Given the description of an element on the screen output the (x, y) to click on. 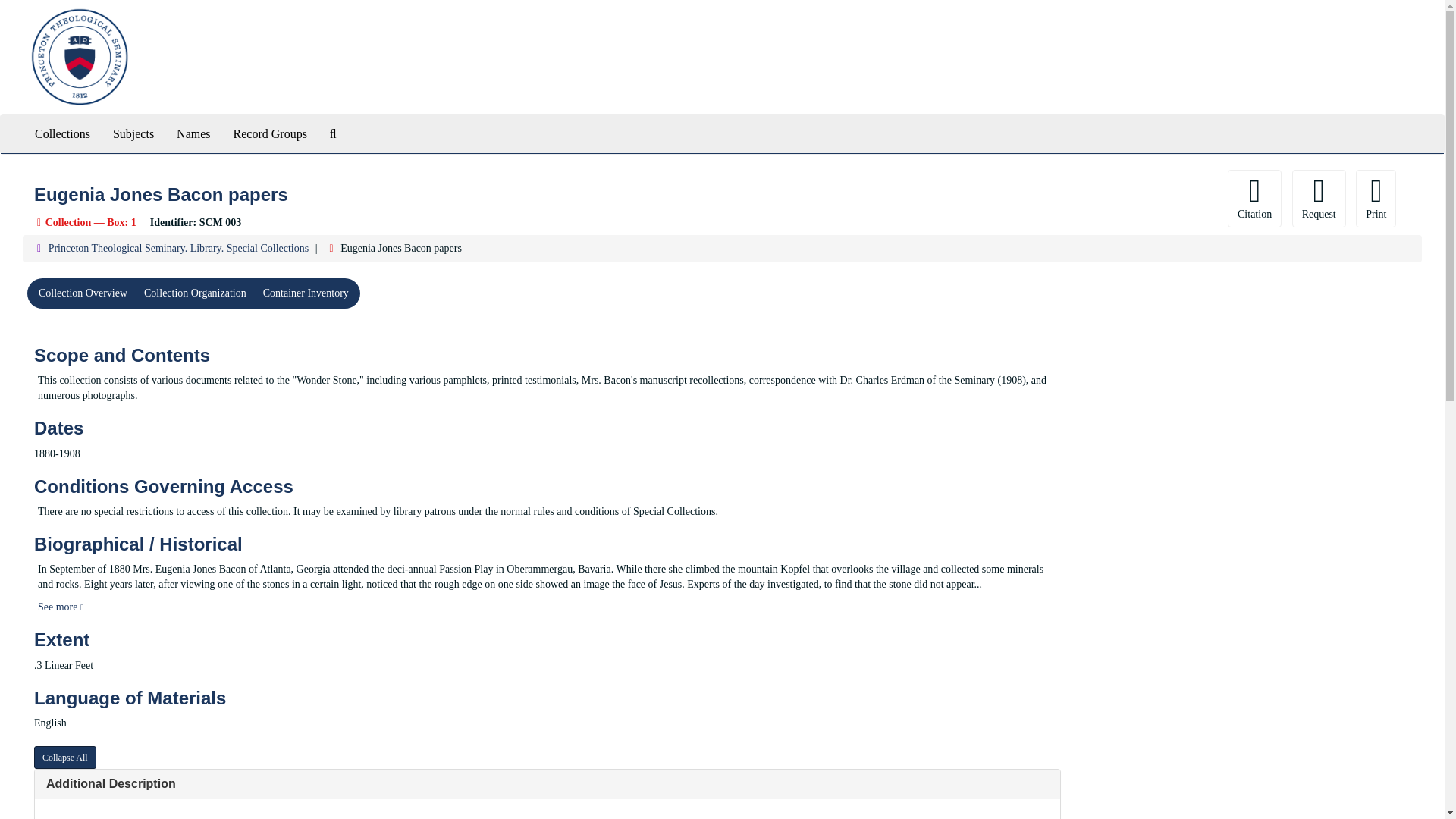
Container Inventory (305, 293)
Collections (62, 134)
Names (193, 134)
Citation (1254, 198)
Collection Overview (82, 293)
Request (1318, 198)
Additional Description (111, 783)
Collection Organization (194, 293)
Princeton Theological Seminary. Library. Special Collections (178, 247)
Request (1318, 198)
Subjects (133, 134)
See more (59, 606)
Record Groups (270, 134)
Collapse All (64, 757)
Page Actions (1130, 198)
